Given the description of an element on the screen output the (x, y) to click on. 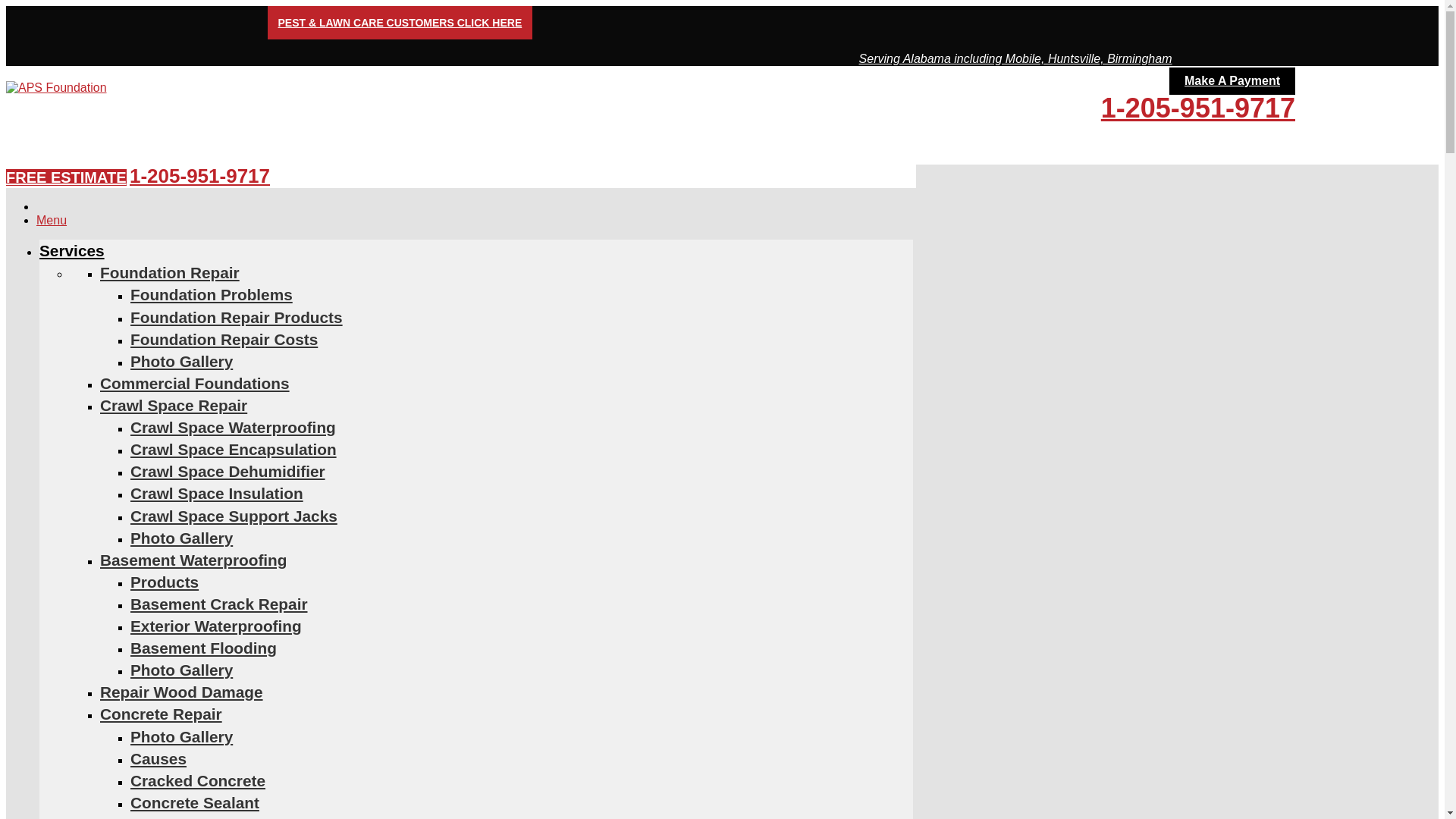
Photo Gallery (181, 361)
Foundation Repair (170, 272)
Causes (158, 758)
Foundation Repair Costs (224, 339)
Concrete Repair (161, 713)
Foundation Problems (211, 294)
CompressionGuard (204, 817)
Concrete Sealant (195, 802)
1-205-951-9717 (199, 175)
FREE ESTIMATE (65, 176)
Foundation Repair Products (236, 316)
Basement Crack Repair (219, 603)
Basement Flooding (203, 647)
Crawl Space Dehumidifier (227, 470)
Crawl Space Repair (173, 405)
